Given the description of an element on the screen output the (x, y) to click on. 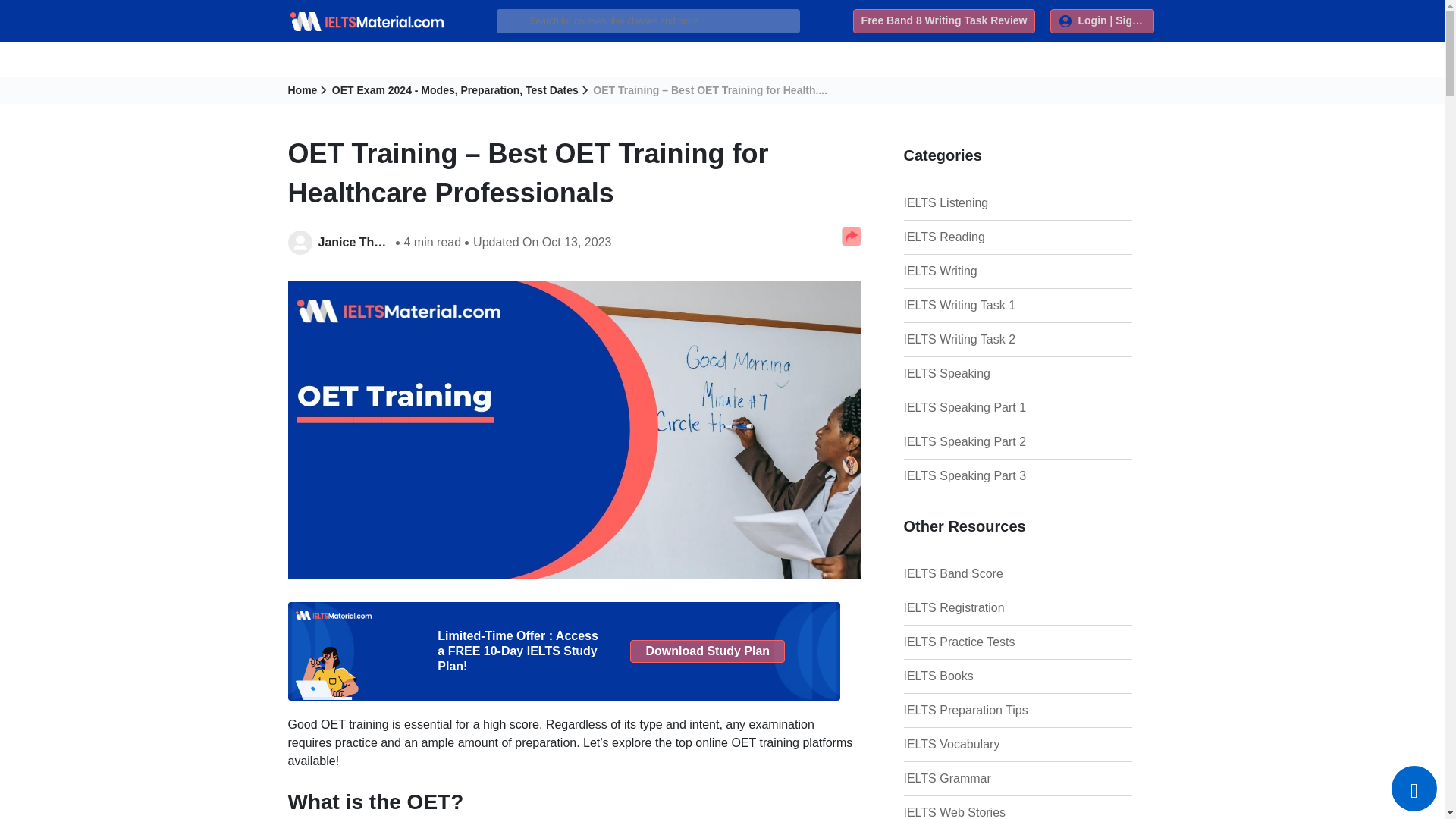
IELTS Writing (979, 271)
IELTS Listening (979, 203)
OET Exam 2024 - Modes, Preparation, Test Dates (460, 90)
IELTS Speaking (979, 373)
IELTS Speaking Part 3 (979, 475)
IELTS Writing Task 2 (979, 339)
IELTS Preparation Tips (979, 710)
IELTS Reading (979, 237)
Home (308, 90)
IELTS Web Stories (979, 811)
Janice Thompson (353, 242)
IELTS Listening (979, 203)
IELTS Writing Task 1 (979, 305)
IELTS Writing Task 1 (979, 305)
IELTS Speaking Part 1 (979, 407)
